Given the description of an element on the screen output the (x, y) to click on. 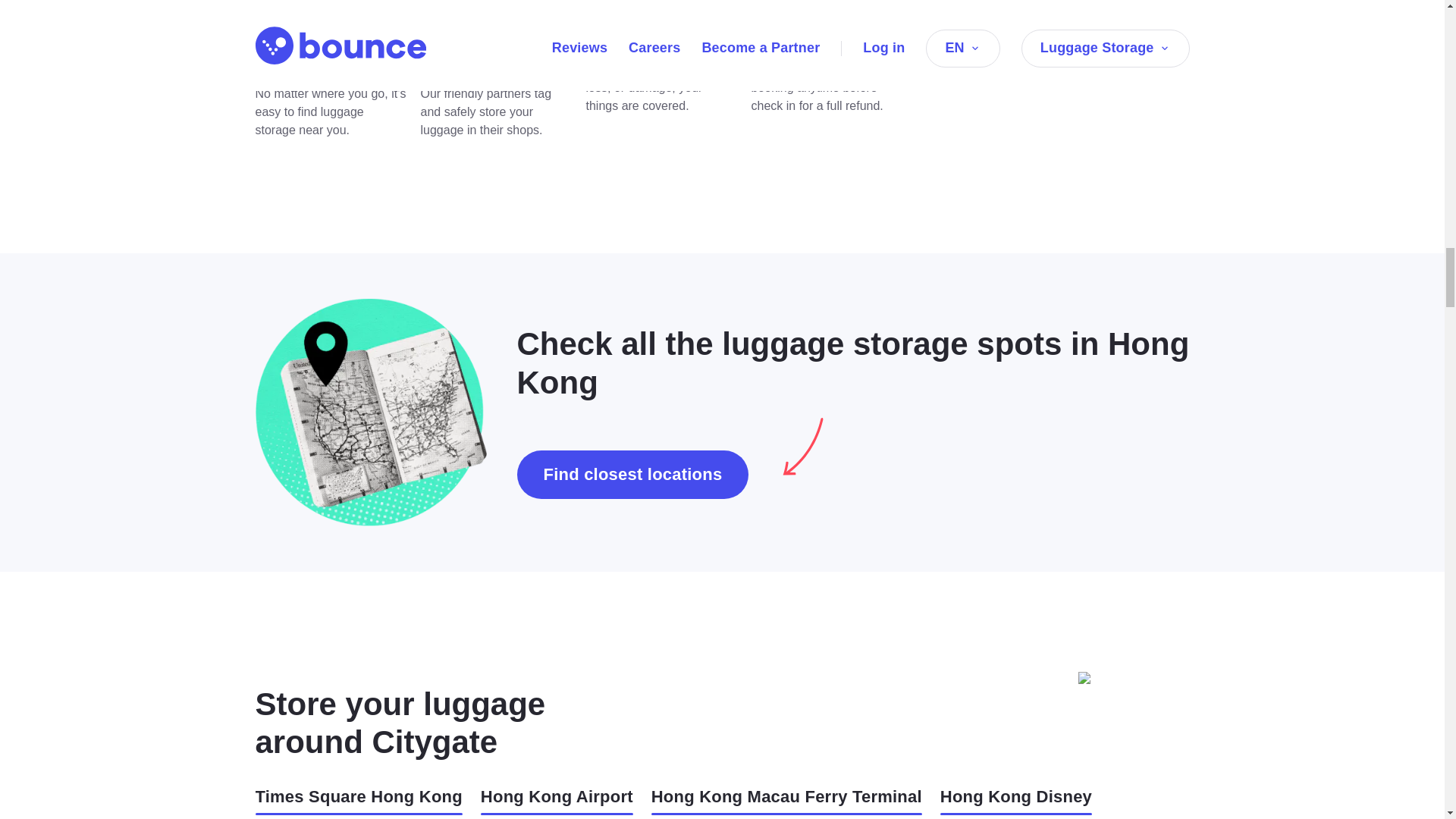
Hong Kong Airport (556, 800)
Times Square Hong Kong (357, 800)
Find closest locations (632, 474)
Hong Kong Macau Ferry Terminal (785, 800)
Hong Kong Disney (1016, 800)
